Given the description of an element on the screen output the (x, y) to click on. 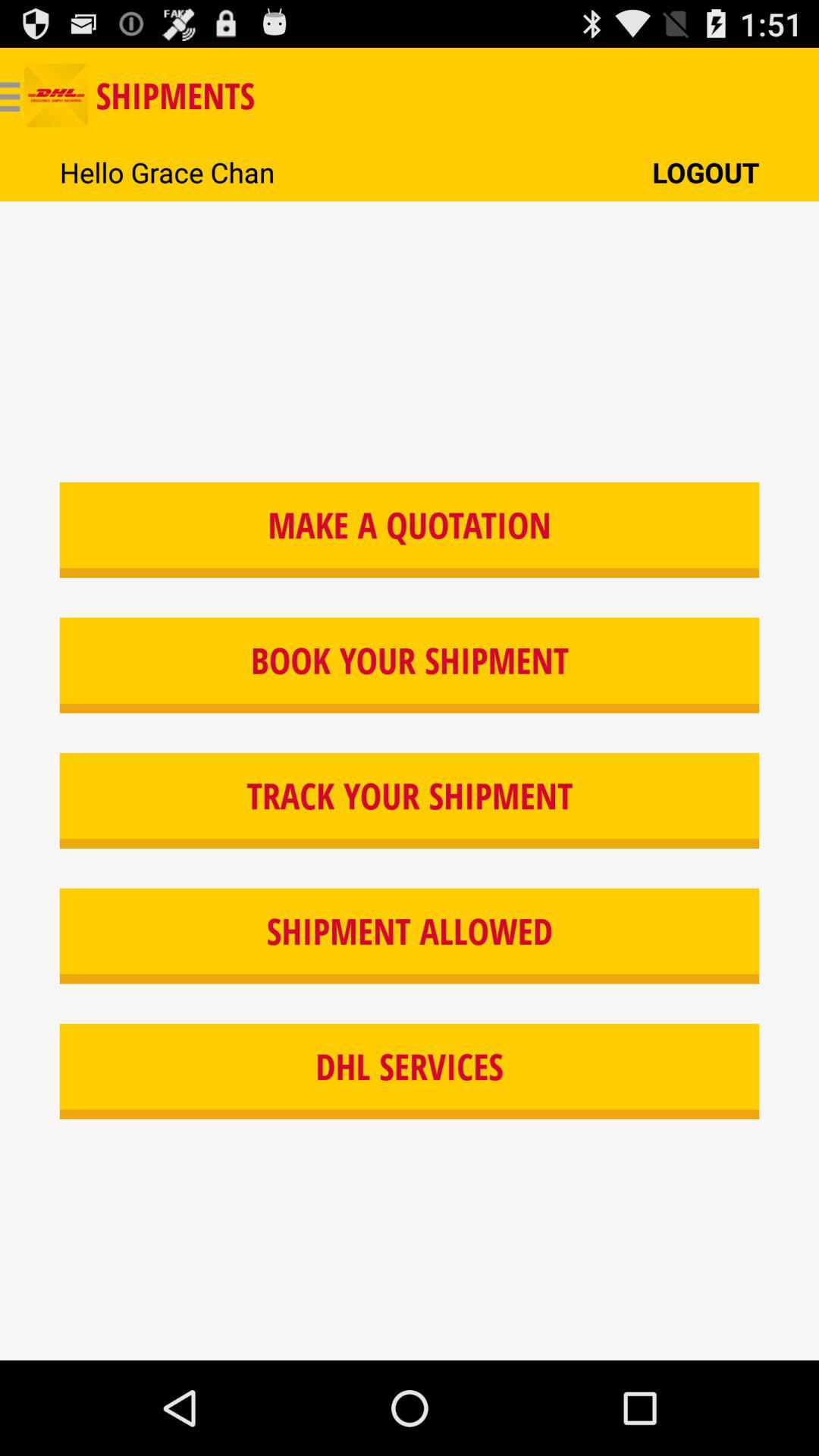
turn on shipment allowed (409, 935)
